Given the description of an element on the screen output the (x, y) to click on. 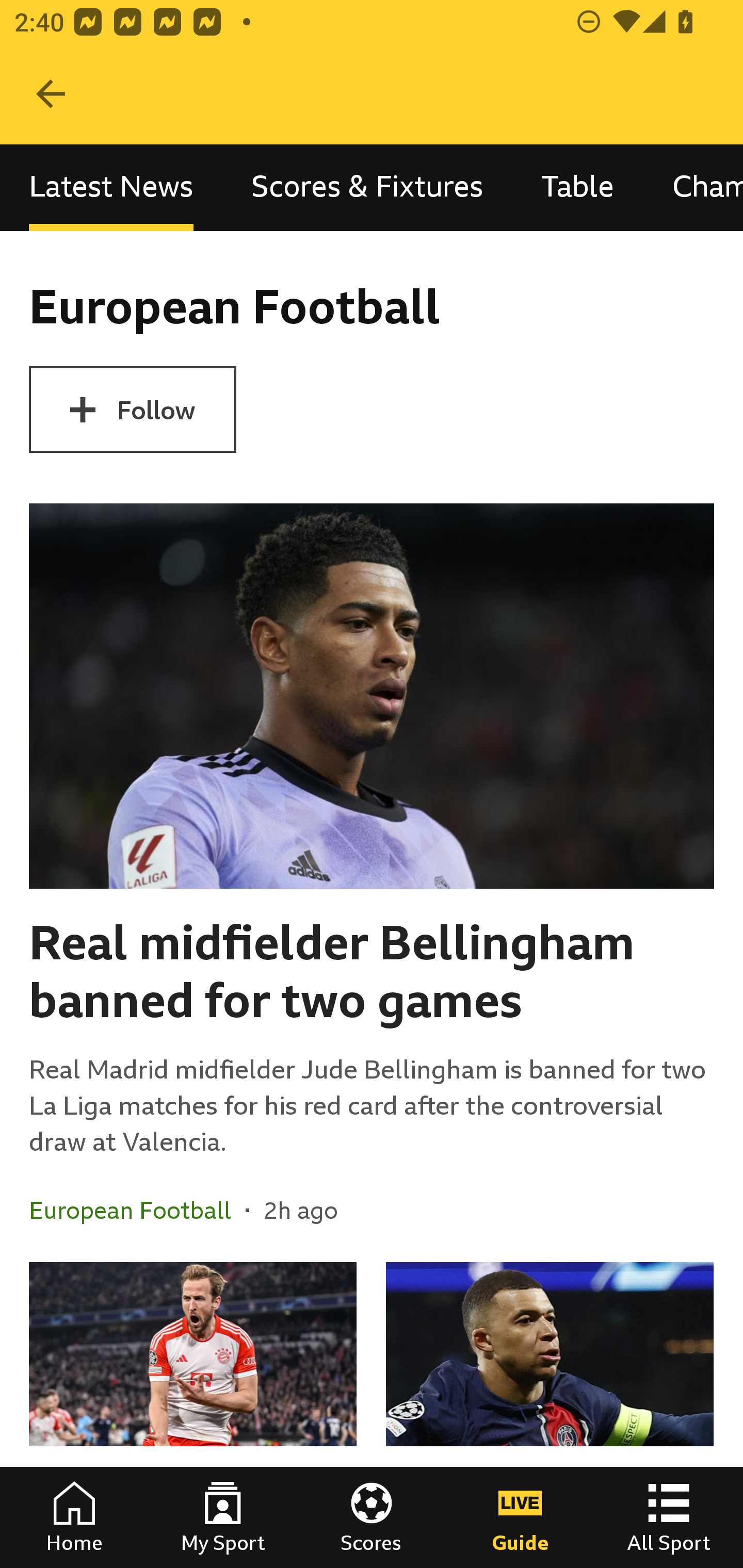
Navigate up (50, 93)
Latest News, selected Latest News (111, 187)
Scores & Fixtures (367, 187)
Table (577, 187)
Follow European Football Follow (132, 409)
Kane scores two as stylish Bayern beat Lazio (192, 1415)
Mbappe has 'no problems' with manager Enrique (549, 1415)
Home (74, 1517)
My Sport (222, 1517)
Scores (371, 1517)
All Sport (668, 1517)
